Given the description of an element on the screen output the (x, y) to click on. 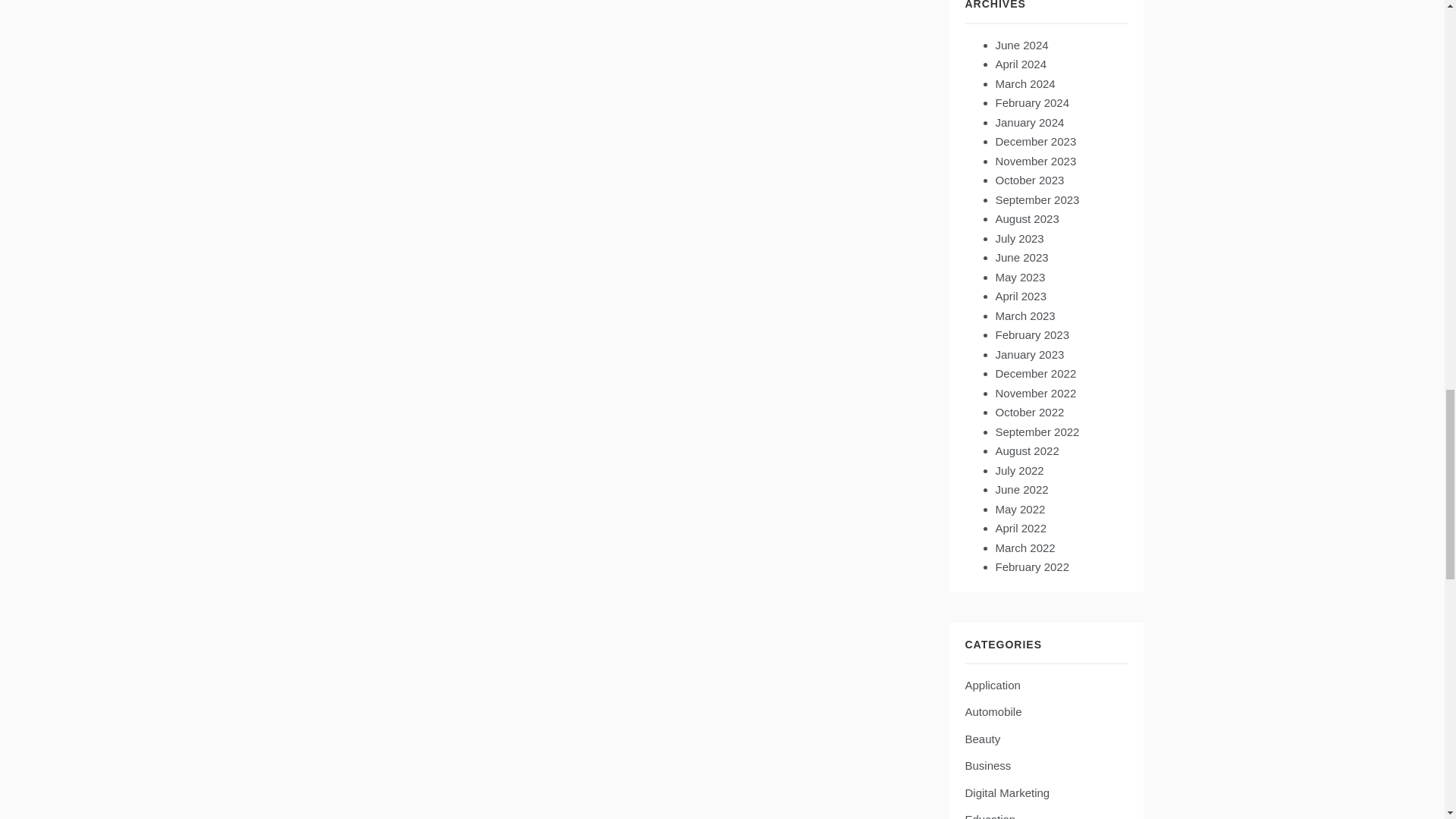
November 2023 (1034, 160)
February 2024 (1031, 102)
June 2023 (1021, 256)
July 2023 (1018, 237)
March 2023 (1024, 315)
April 2023 (1020, 295)
February 2023 (1031, 334)
December 2023 (1034, 141)
May 2023 (1019, 277)
August 2023 (1026, 218)
September 2023 (1036, 199)
June 2024 (1021, 44)
January 2023 (1029, 354)
April 2024 (1020, 63)
January 2024 (1029, 122)
